Given the description of an element on the screen output the (x, y) to click on. 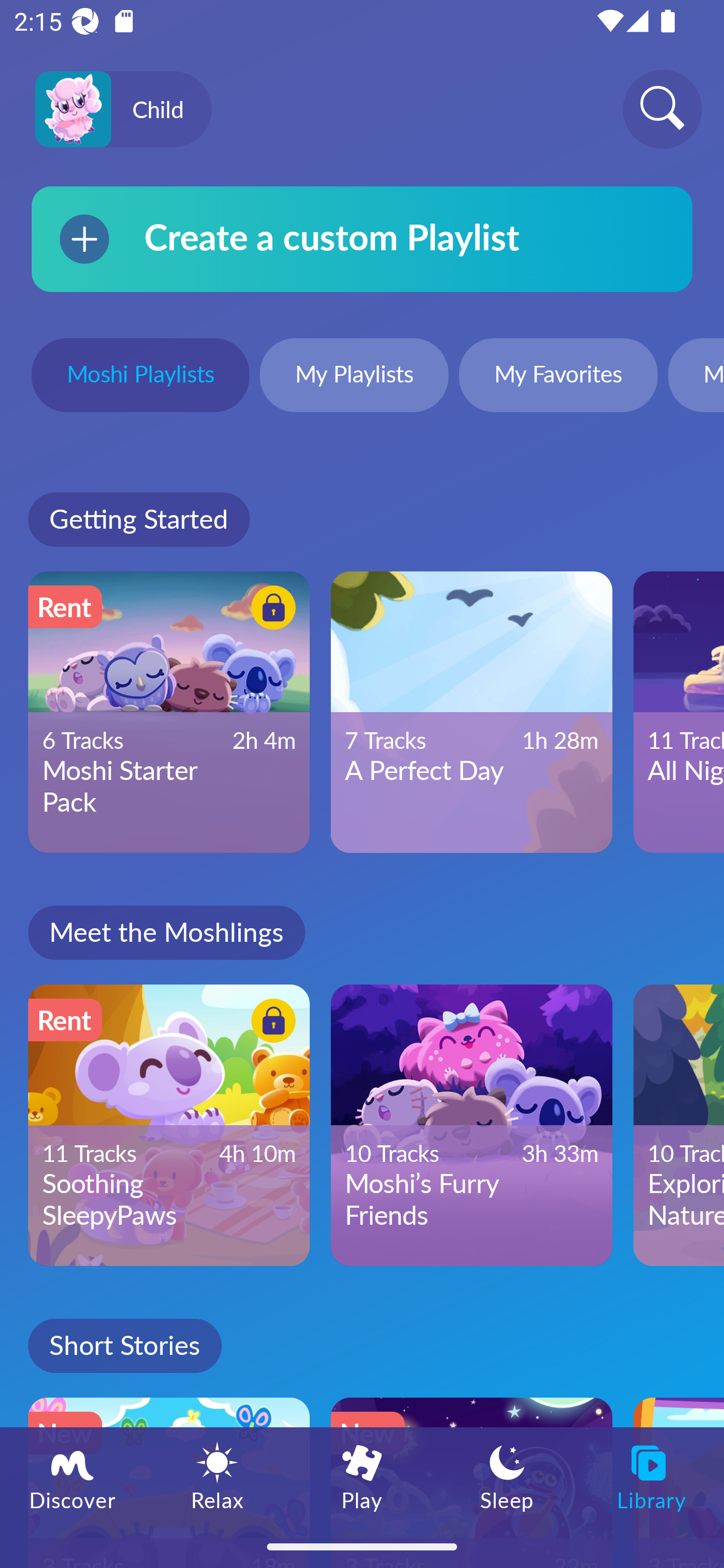
Profile icon Child (123, 109)
Create a custom Playlist (361, 238)
Moshi Playlists (140, 377)
My Playlists (353, 377)
My Favorites (558, 377)
Button (269, 609)
Featured Content 7 Tracks A Perfect Day 1h 28m (471, 711)
Button (269, 1023)
Discover (72, 1475)
Relax (216, 1475)
Play (361, 1475)
Sleep (506, 1475)
